Given the description of an element on the screen output the (x, y) to click on. 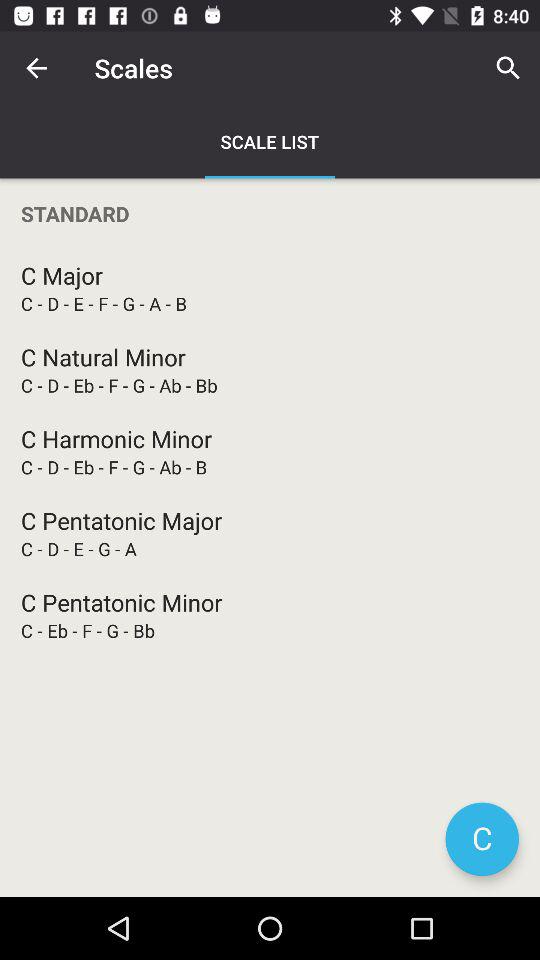
turn on item at the bottom right corner (482, 839)
